Given the description of an element on the screen output the (x, y) to click on. 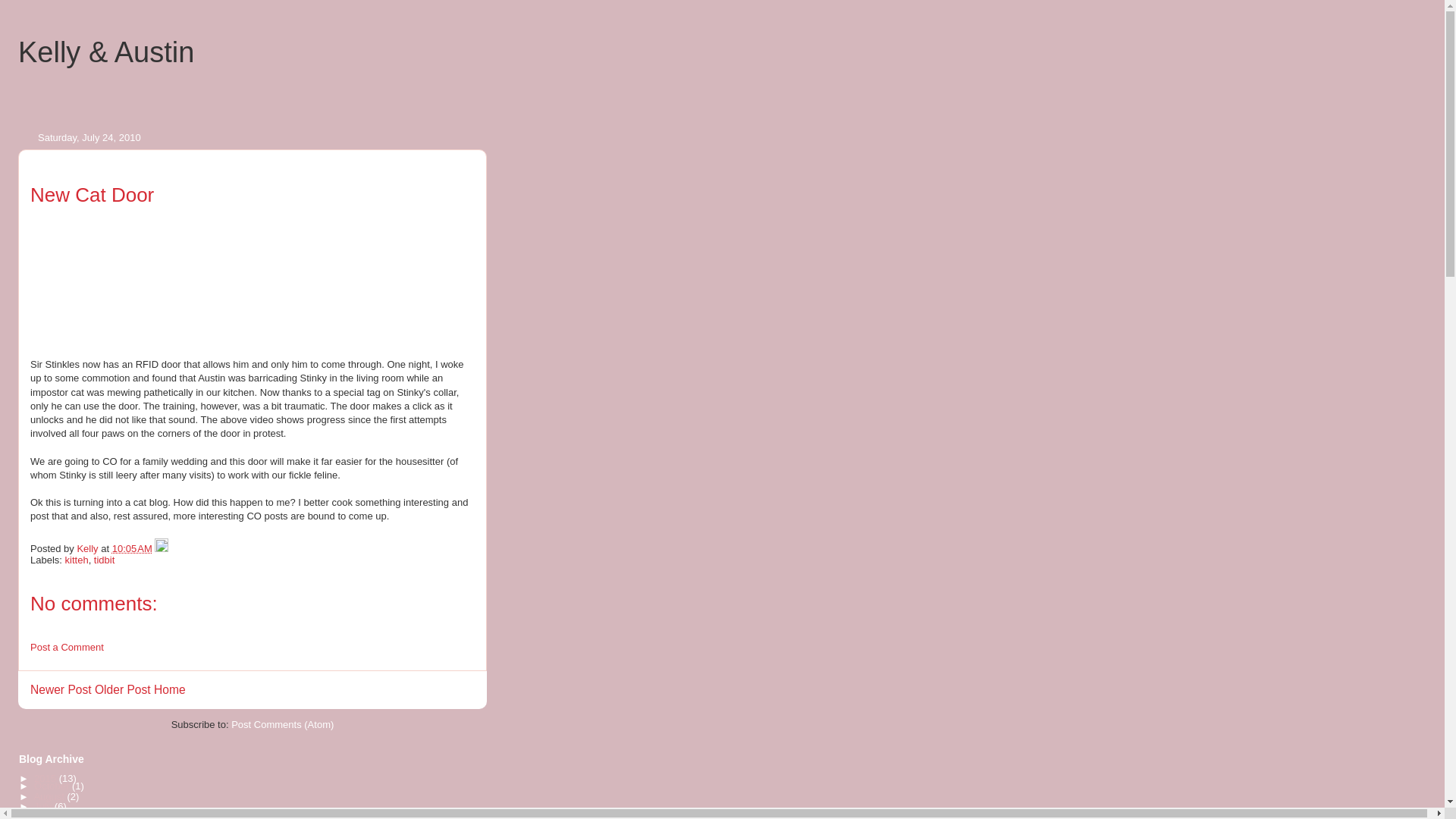
Older Post (122, 689)
Newer Post (60, 689)
2015 (46, 778)
July (44, 806)
permanent link (132, 548)
kitteh (76, 559)
Edit Post (161, 548)
Kelly (88, 548)
Home (170, 689)
October (52, 785)
June (45, 815)
Post a Comment (66, 646)
author profile (88, 548)
August (49, 796)
tidbit (104, 559)
